Given the description of an element on the screen output the (x, y) to click on. 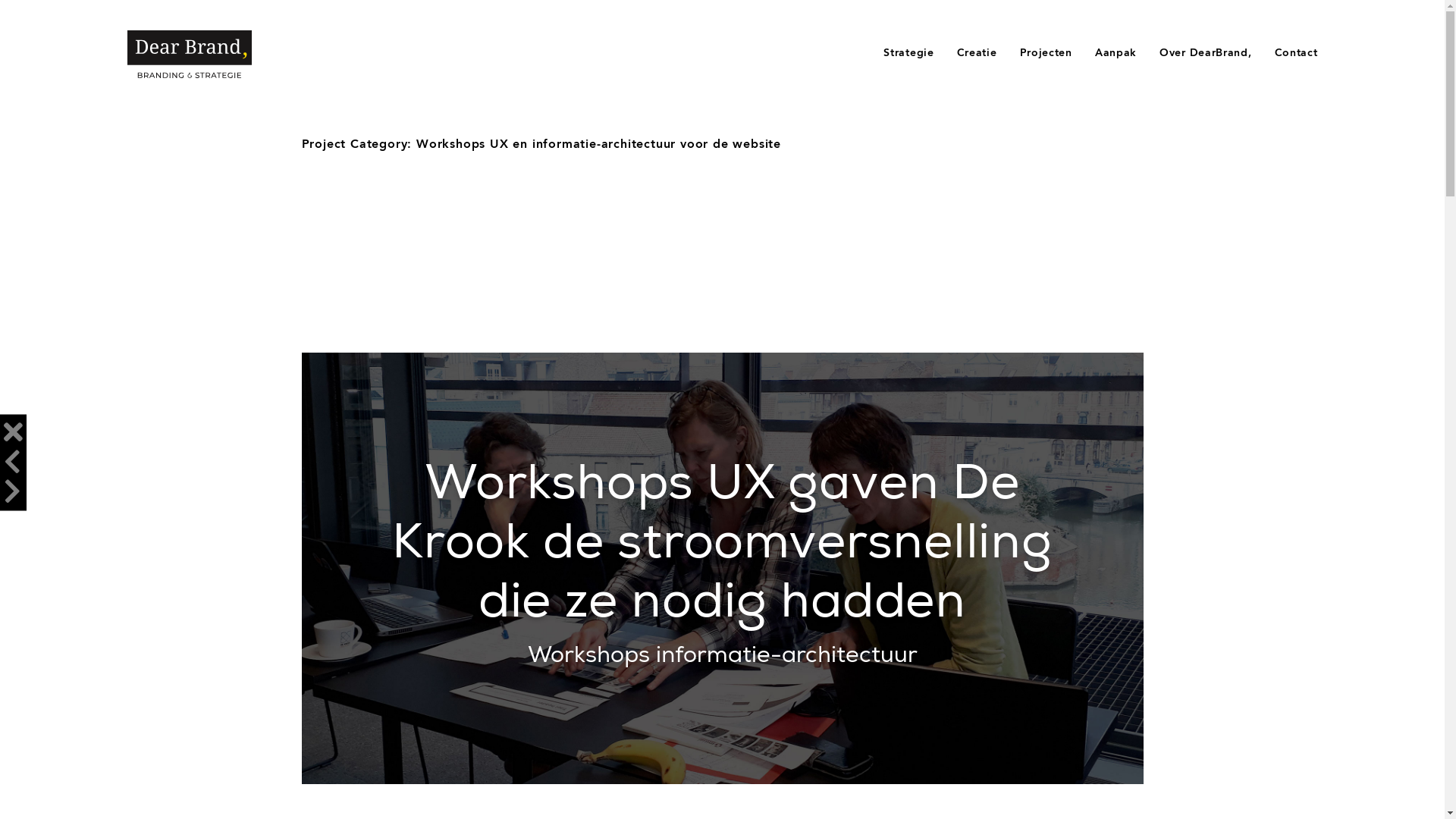
Projecten Element type: text (1045, 52)
Contact Element type: text (1295, 52)
Dear Brand Element type: text (189, 54)
Over DearBrand, Element type: text (1205, 52)
Creatie Element type: text (977, 52)
Aanpak Element type: text (1115, 52)
Puratos maakt van Vita+ een lovebrand Element type: hover (12, 492)
Strategie Element type: text (908, 52)
